Given the description of an element on the screen output the (x, y) to click on. 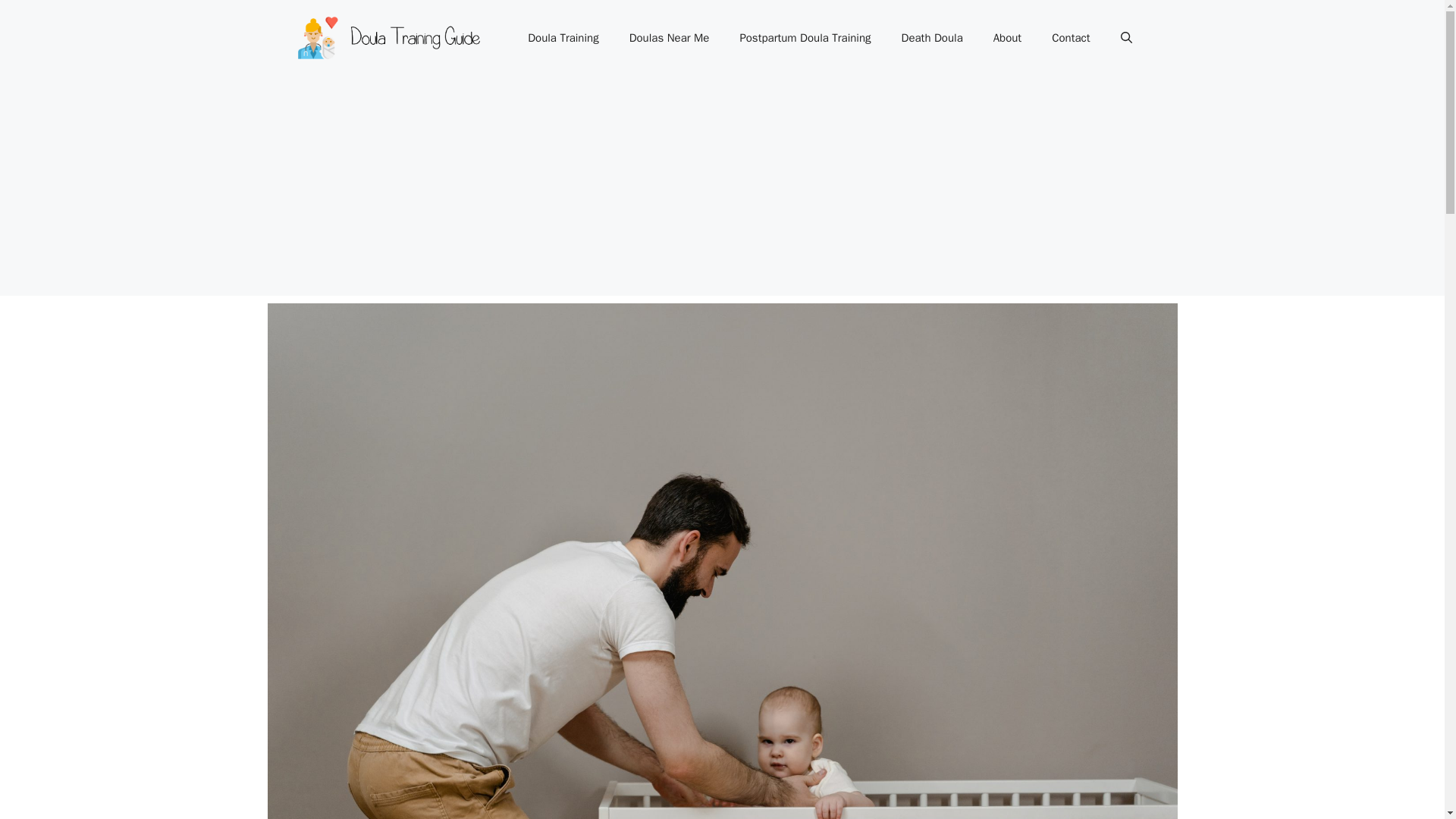
Contact (1070, 37)
Doulas Near Me (669, 37)
Death Doula (932, 37)
Postpartum Doula Training (804, 37)
Doula Training (562, 37)
About (1007, 37)
